Given the description of an element on the screen output the (x, y) to click on. 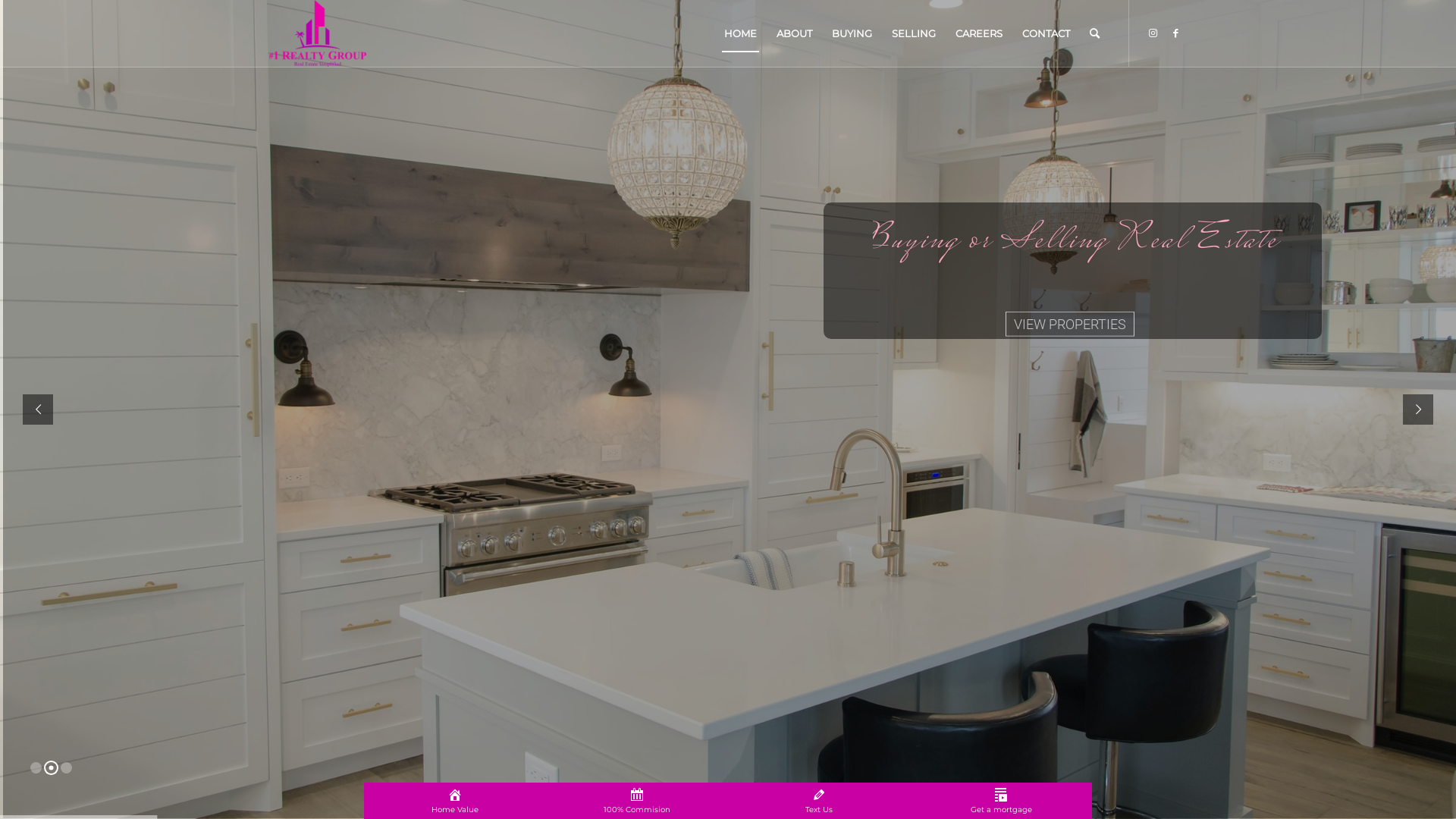
Instagram Element type: hover (1152, 32)
VIEW PROPERTIES Element type: text (1069, 350)
100% Commision Element type: text (636, 800)
Text Us Element type: text (818, 800)
Facebook Element type: hover (1175, 32)
CAREERS Element type: text (978, 33)
SELLING Element type: text (913, 33)
ABOUT Element type: text (794, 33)
HOME Element type: text (740, 33)
BUYING Element type: text (851, 33)
Home Value Element type: text (454, 800)
Get a mortgage Element type: text (1000, 800)
CONTACT Element type: text (1045, 33)
